Given the description of an element on the screen output the (x, y) to click on. 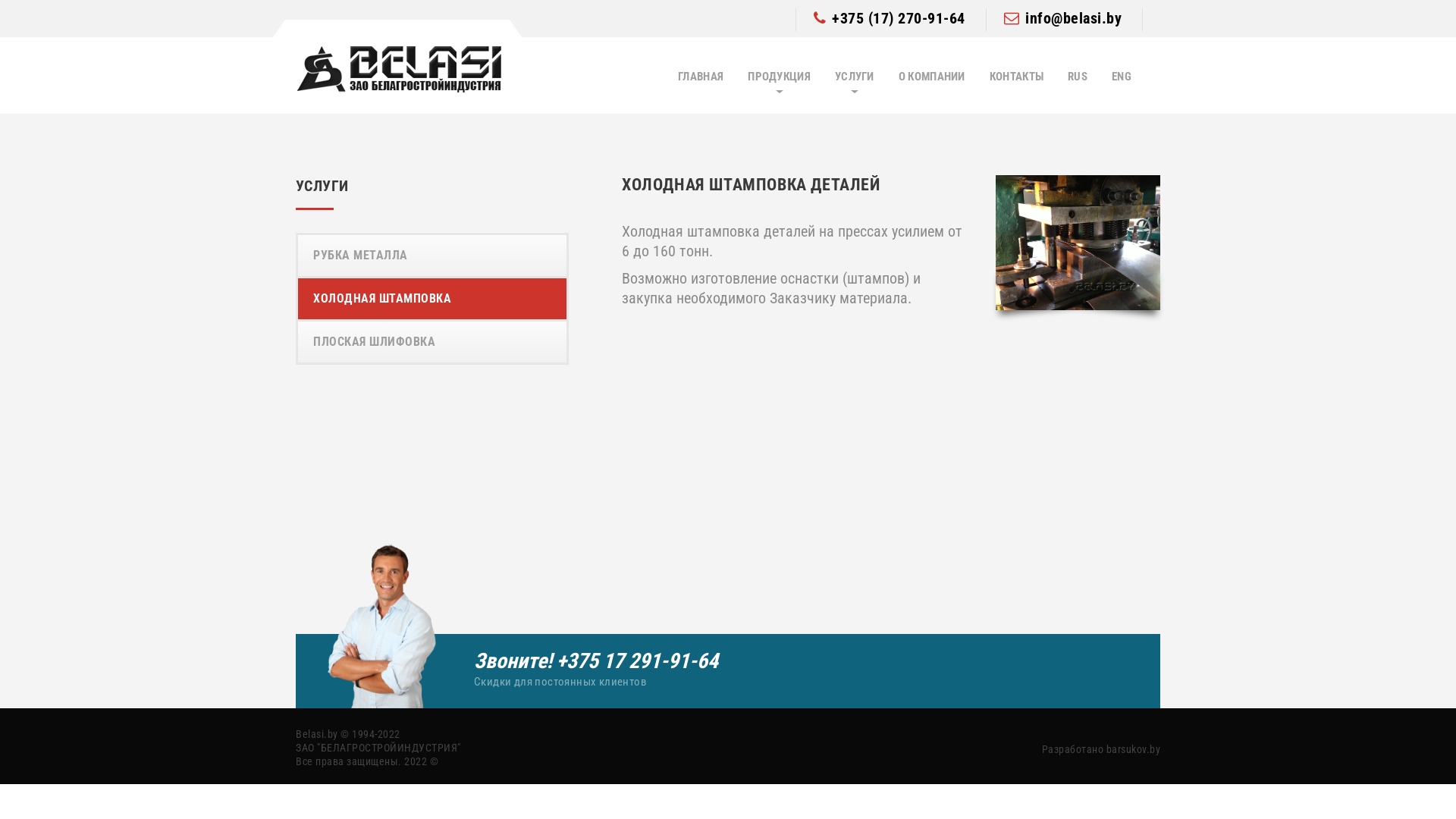
+375 17 291-91-64 Element type: text (637, 660)
info@belasi.by Element type: text (1063, 18)
RUS Element type: text (1077, 76)
ENG Element type: text (1121, 76)
+375 (17) 270-91-64 Element type: text (888, 18)
barsukov.by Element type: text (1132, 749)
